Given the description of an element on the screen output the (x, y) to click on. 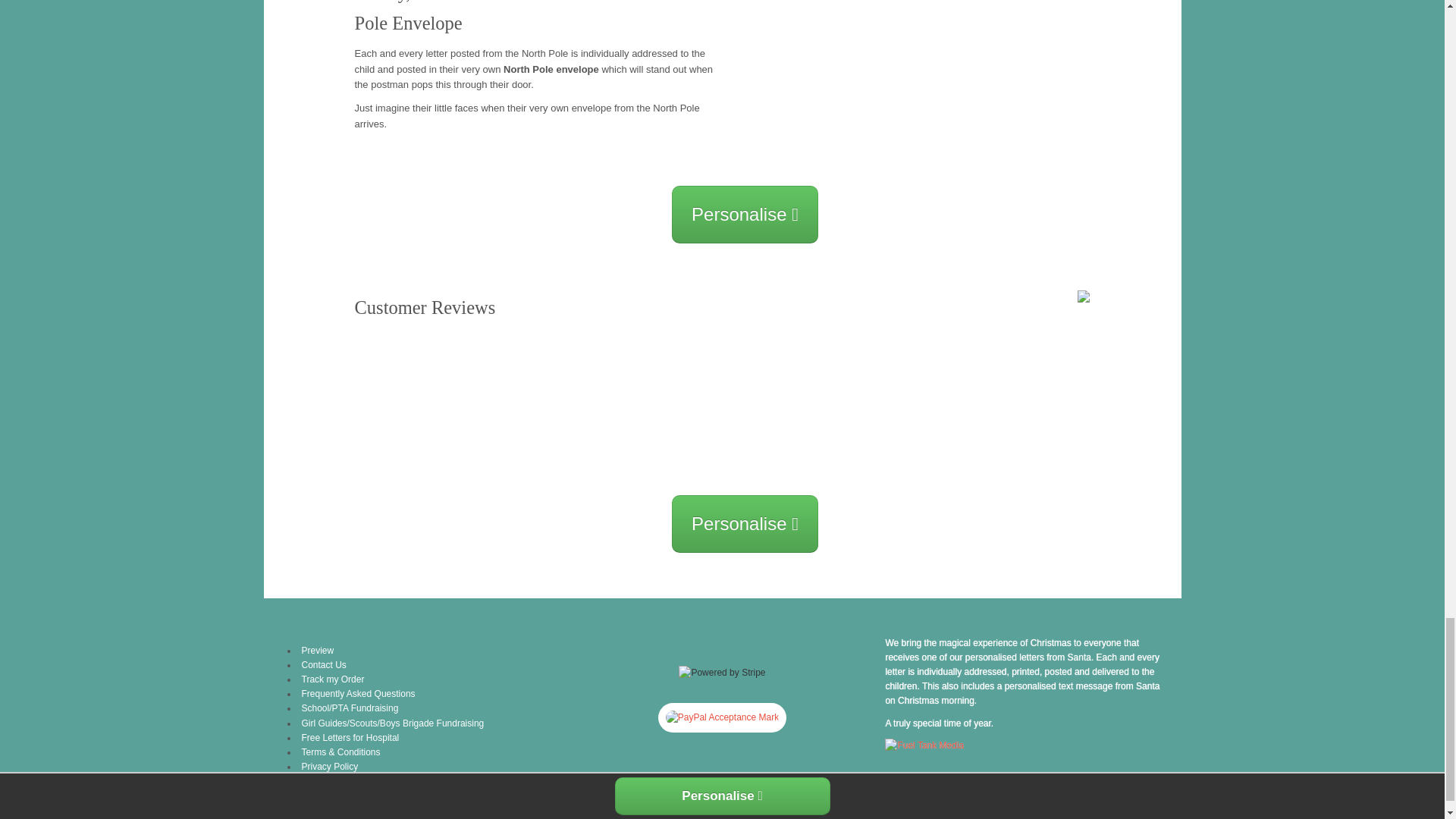
Personalise (744, 214)
Personalise (744, 523)
Preview (317, 650)
